Given the description of an element on the screen output the (x, y) to click on. 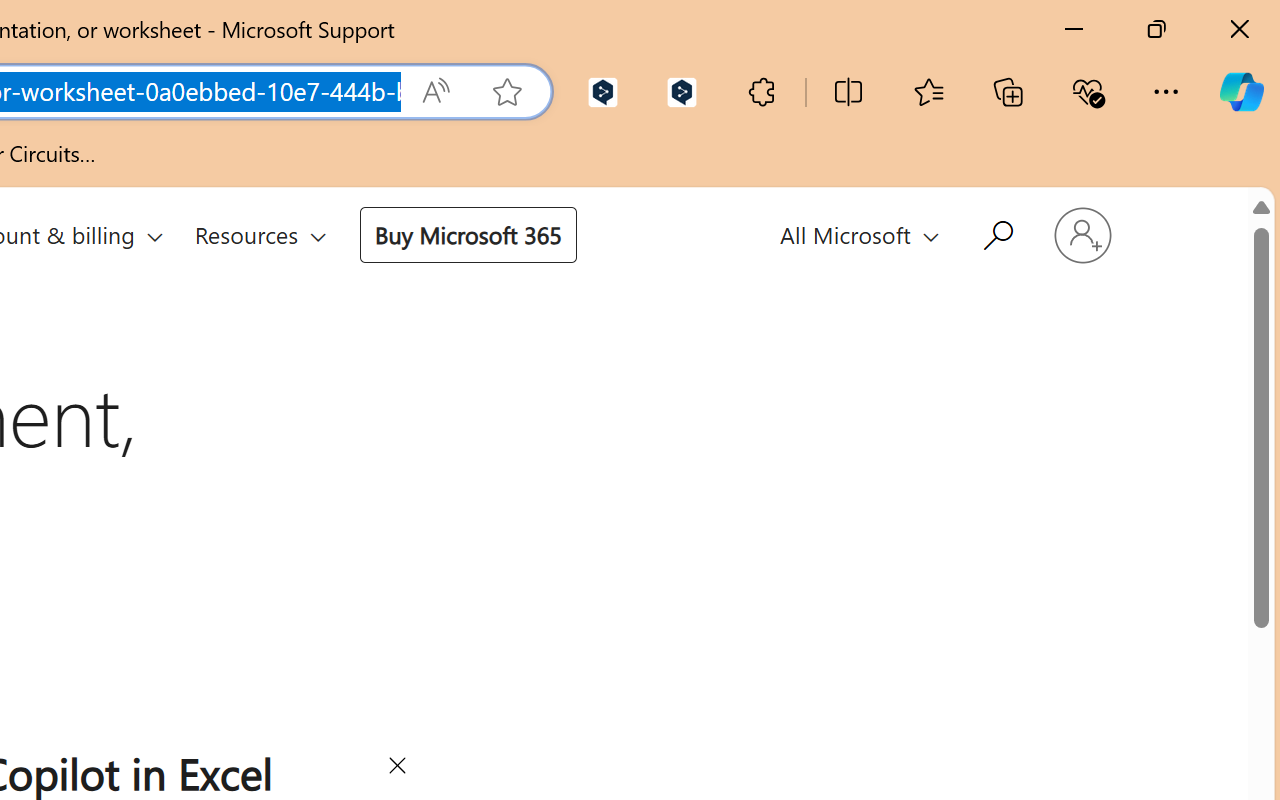
Buy Microsoft 365 (467, 234)
